Given the description of an element on the screen output the (x, y) to click on. 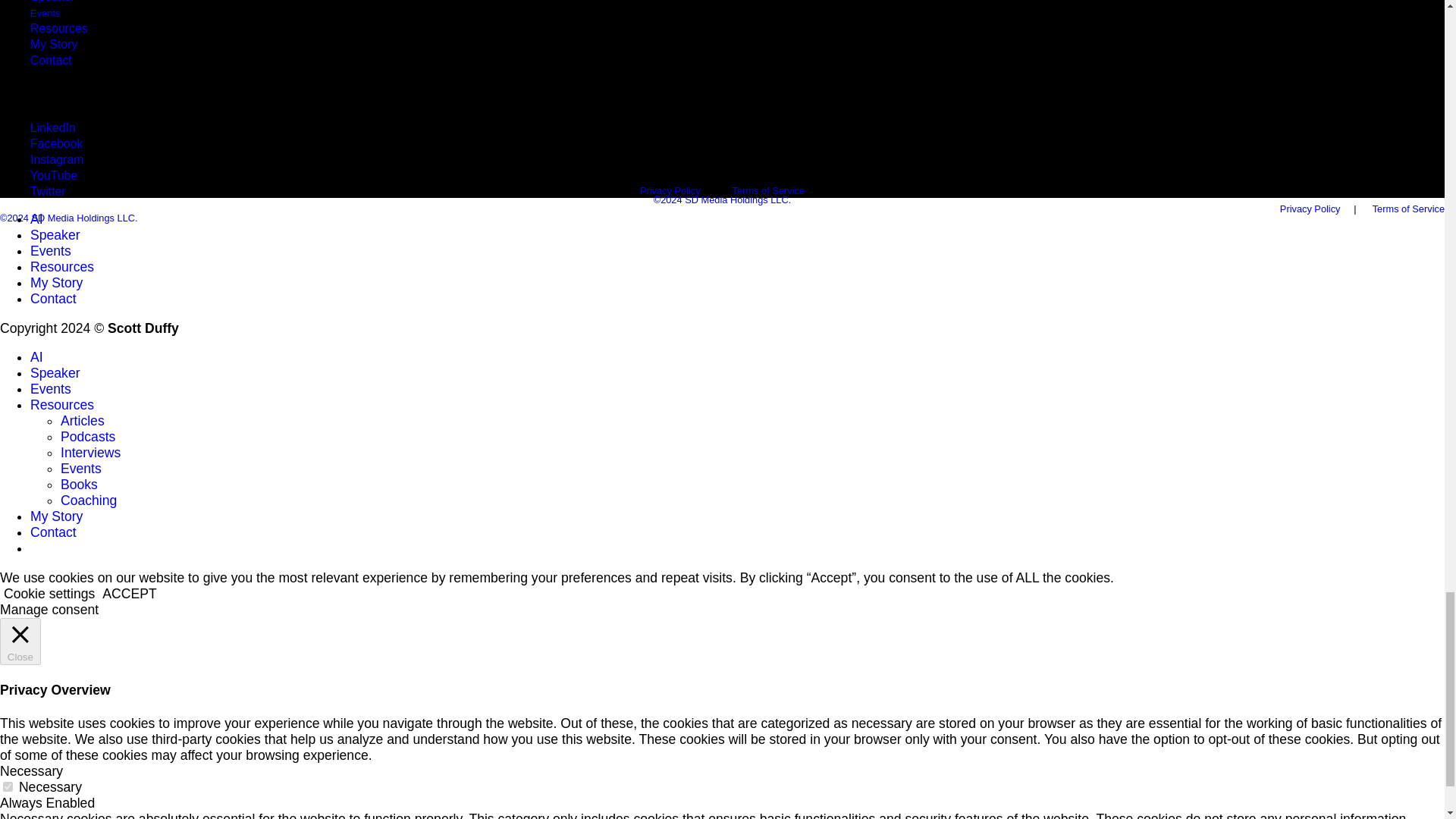
Instagram (56, 159)
Contact (50, 59)
Privacy Policy (1309, 208)
Twitter (47, 191)
Resources (58, 28)
on (7, 786)
Facebook (56, 142)
Events (45, 11)
LinkedIn (52, 127)
Speaker (52, 2)
YouTube (53, 174)
My Story (53, 43)
